Given the description of an element on the screen output the (x, y) to click on. 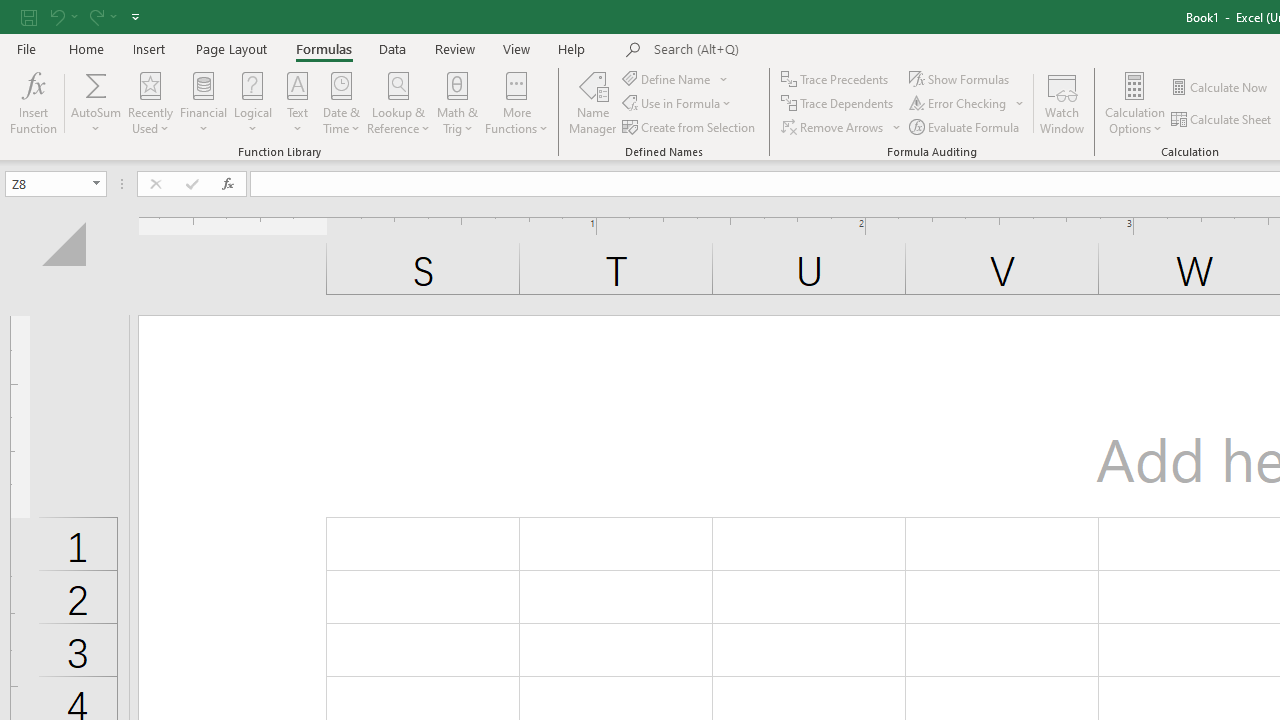
Error Checking... (959, 103)
Calculate Sheet (1222, 119)
Create from Selection... (690, 126)
Trace Dependents (838, 103)
Insert Function... (33, 102)
Math & Trig (458, 102)
Use in Formula (678, 103)
